Given the description of an element on the screen output the (x, y) to click on. 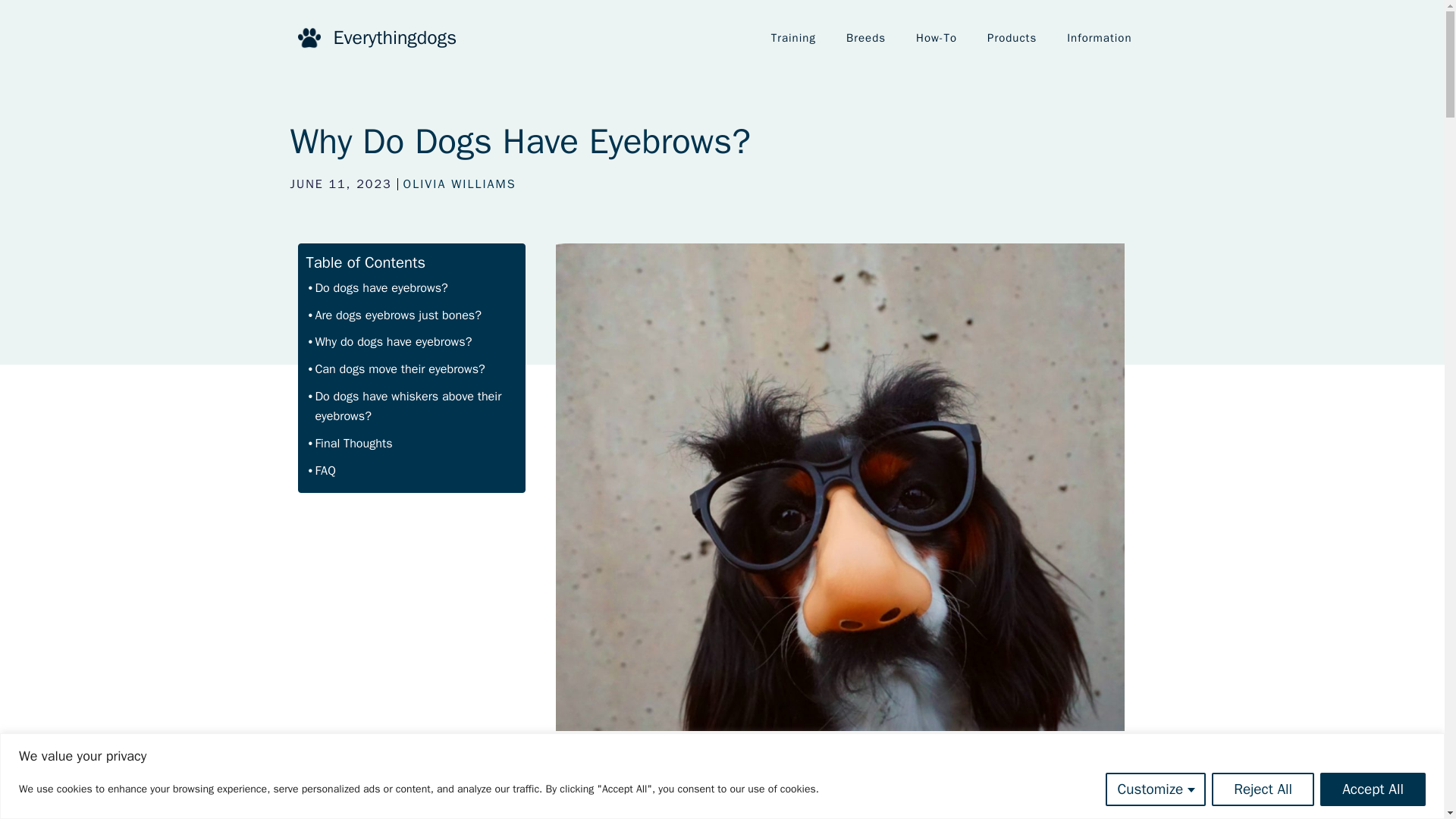
FAQ (321, 470)
Everythingdogs (395, 37)
Training (793, 37)
Customize (1156, 788)
Can dogs move their eyebrows? (396, 369)
Information (1099, 37)
Final Thoughts (349, 443)
Reject All (1262, 788)
Do dogs have eyebrows? (377, 288)
Do dogs have eyebrows? (377, 288)
